Given the description of an element on the screen output the (x, y) to click on. 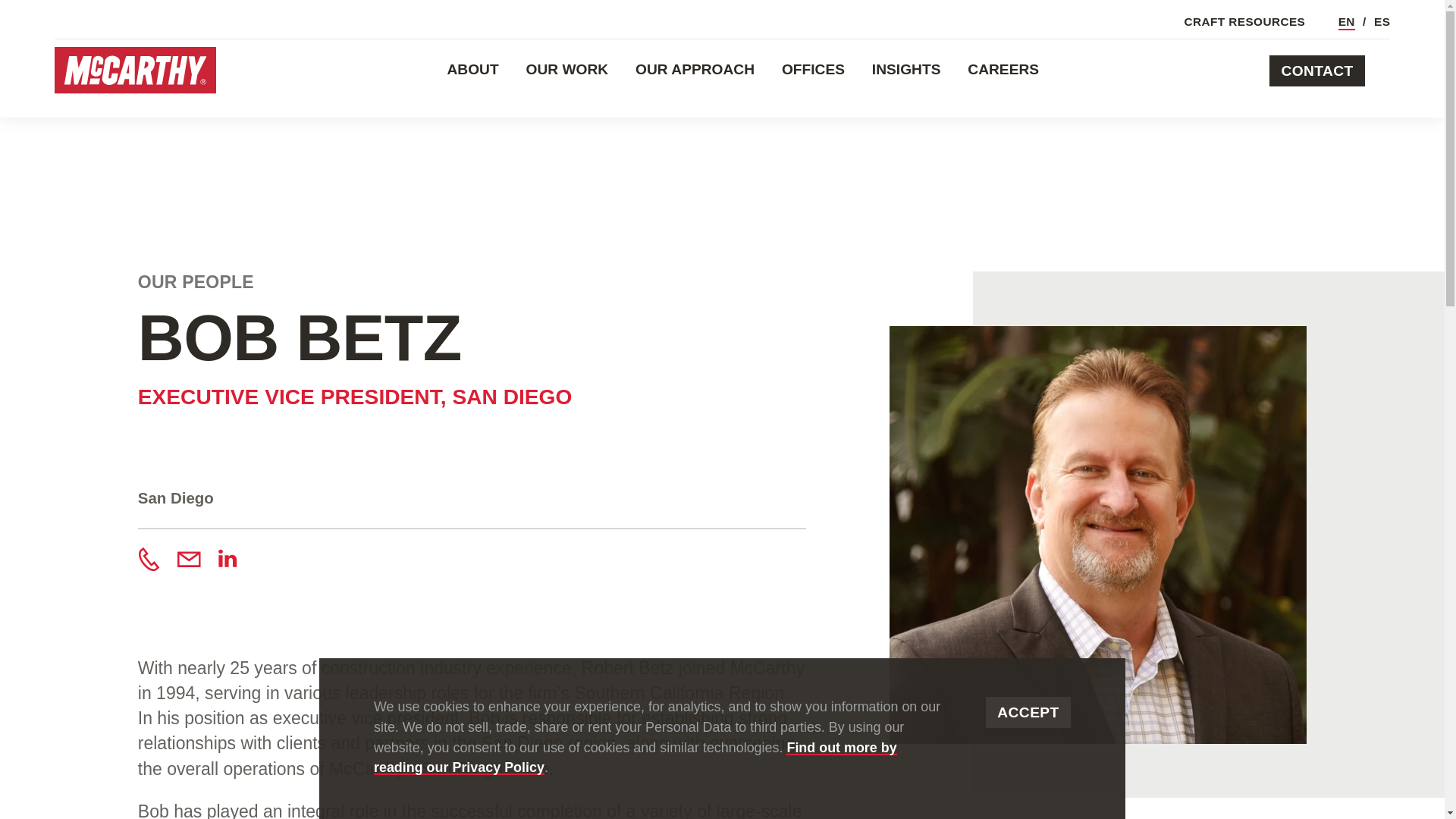
Find out more by reading our Privacy Policy (635, 757)
OUR WORK (566, 69)
ACCEPT (1027, 712)
ABOUT (471, 69)
